Given the description of an element on the screen output the (x, y) to click on. 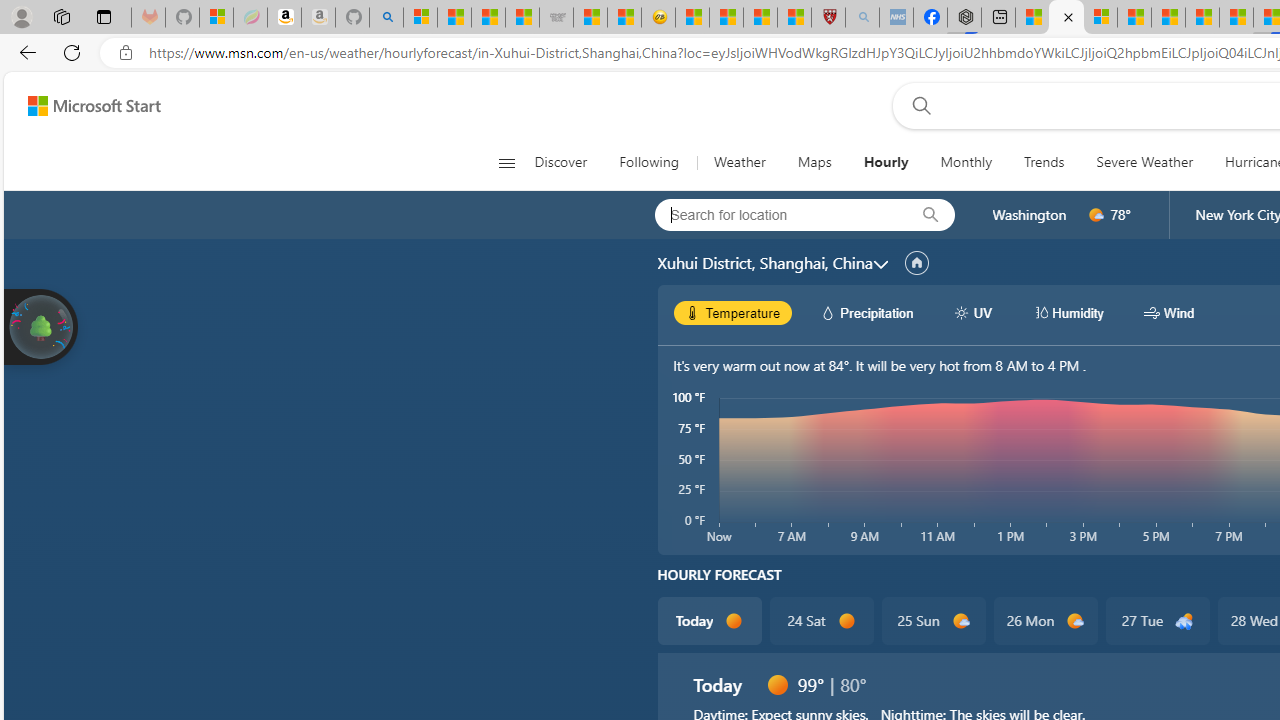
12 Popular Science Lies that Must be Corrected (794, 17)
hourlyChart/uvWhite UV (972, 312)
d0000 (777, 684)
common/carouselChevron (880, 264)
Severe Weather (1144, 162)
common/carouselChevron (880, 264)
Recipes - MSN (692, 17)
hourlyChart/temperatureBlack Temperature (733, 312)
